Given the description of an element on the screen output the (x, y) to click on. 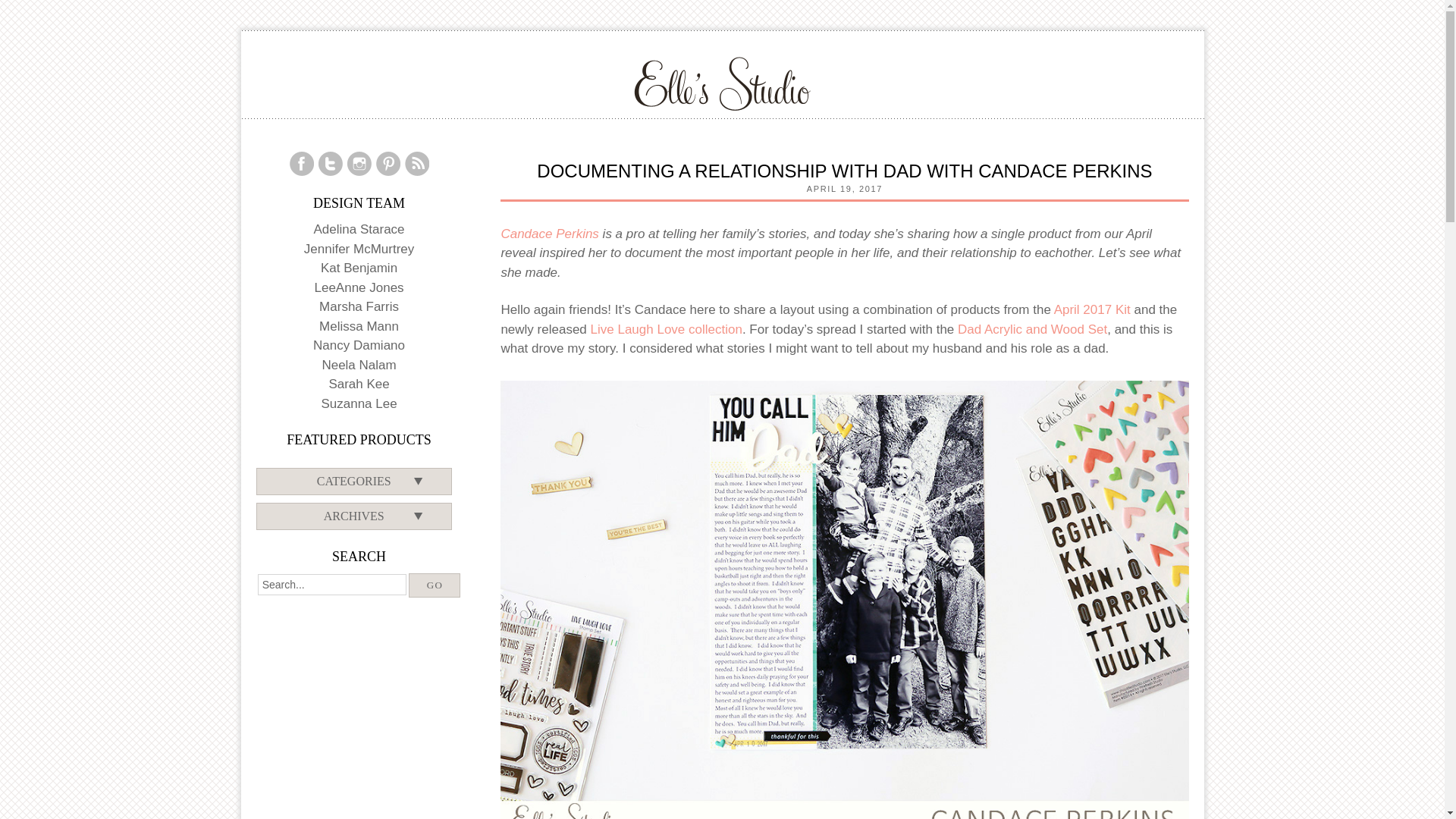
Search... (331, 584)
Candace Perkins (549, 233)
Dad Acrylic and Wood Set (1032, 329)
Elle's Studio Blog (721, 82)
DOCUMENTING A RELATIONSHIP WITH DAD WITH CANDACE PERKINS (844, 170)
Adelina Starace (359, 228)
April 2017 Kit (1092, 309)
Go (434, 585)
Neela Nalam (358, 364)
Nancy Damiano (358, 345)
Live Laugh Love collection (666, 329)
